Given the description of an element on the screen output the (x, y) to click on. 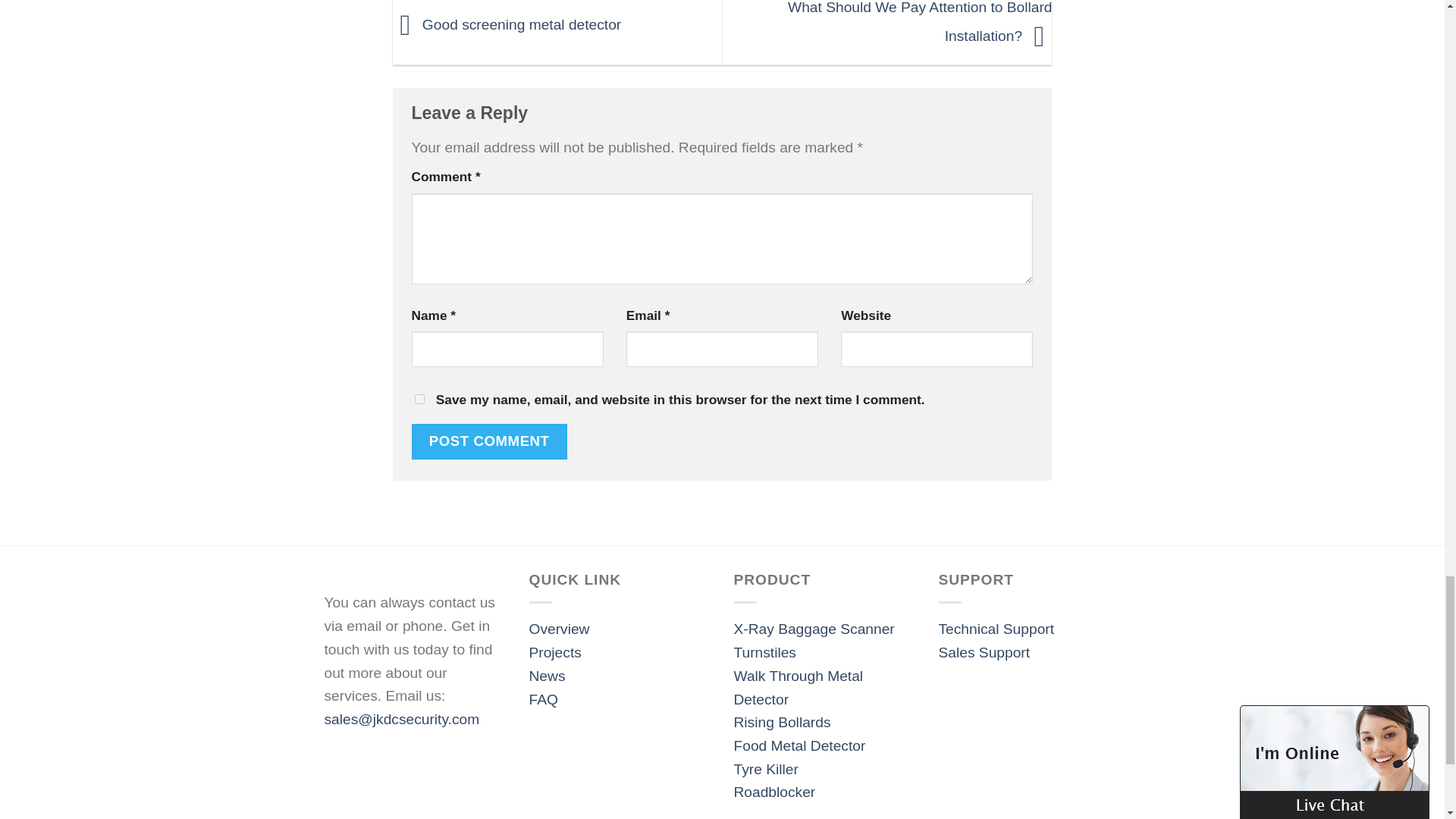
Post Comment (488, 441)
yes (418, 398)
